Given the description of an element on the screen output the (x, y) to click on. 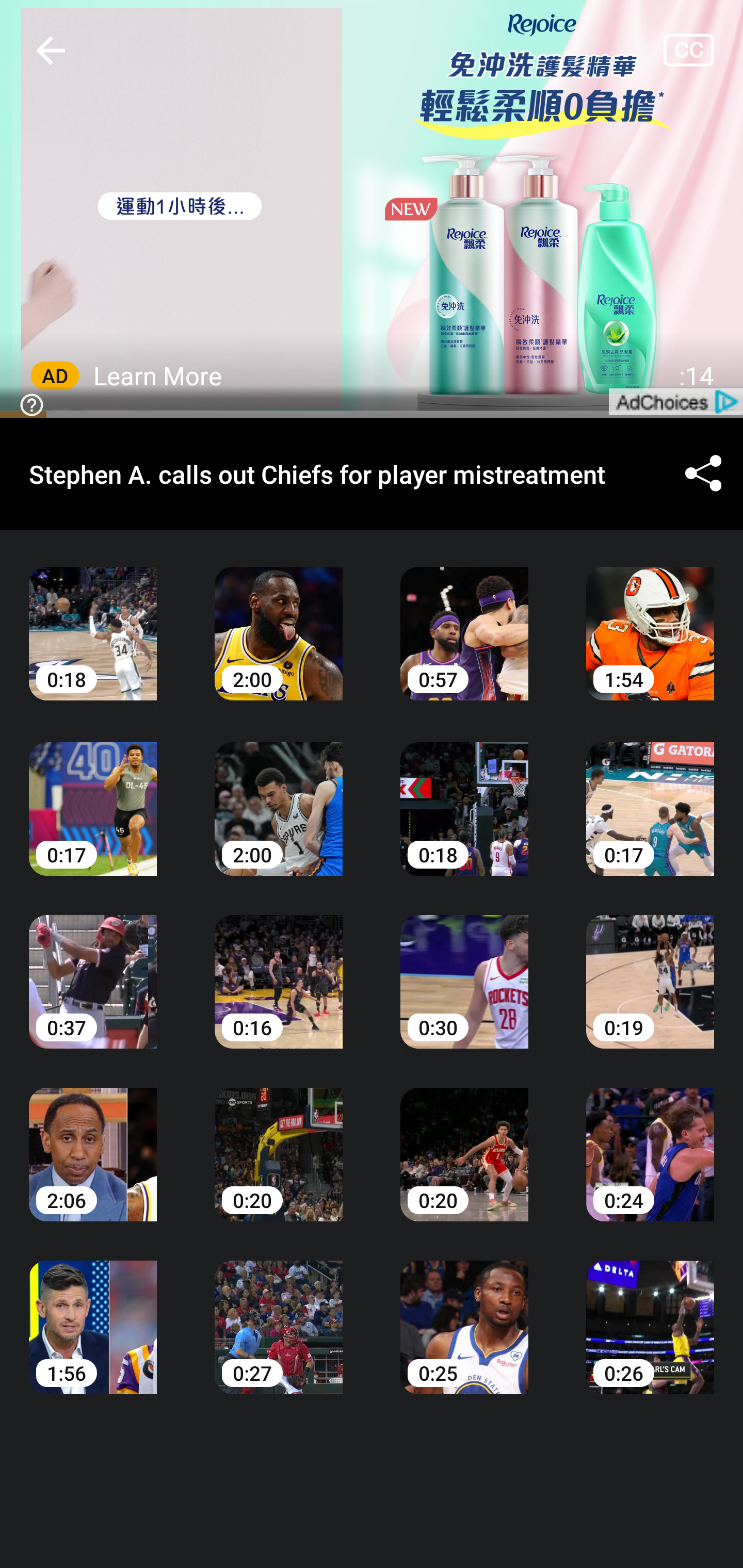
Why This Ad? get?name=admarker-full-tl (371, 209)
Navigate up (50, 50)
Closed captions  (703, 49)
Learn More (157, 375)
get?name=admarker-full-tl (675, 401)
Why This Ad? (27, 403)
Share © (703, 474)
0:18 (92, 618)
2:00 (278, 618)
0:57 (464, 618)
1:54 (650, 618)
0:17 (92, 794)
2:00 (278, 794)
0:18 (464, 794)
0:17 (650, 794)
0:37 (92, 967)
0:16 (278, 967)
0:30 (464, 967)
0:19 (650, 967)
2:06 (92, 1139)
0:20 (278, 1139)
0:20 (464, 1139)
0:24 (650, 1139)
1:56 (92, 1312)
0:27 (278, 1312)
0:25 (464, 1312)
0:26 (650, 1312)
